Given the description of an element on the screen output the (x, y) to click on. 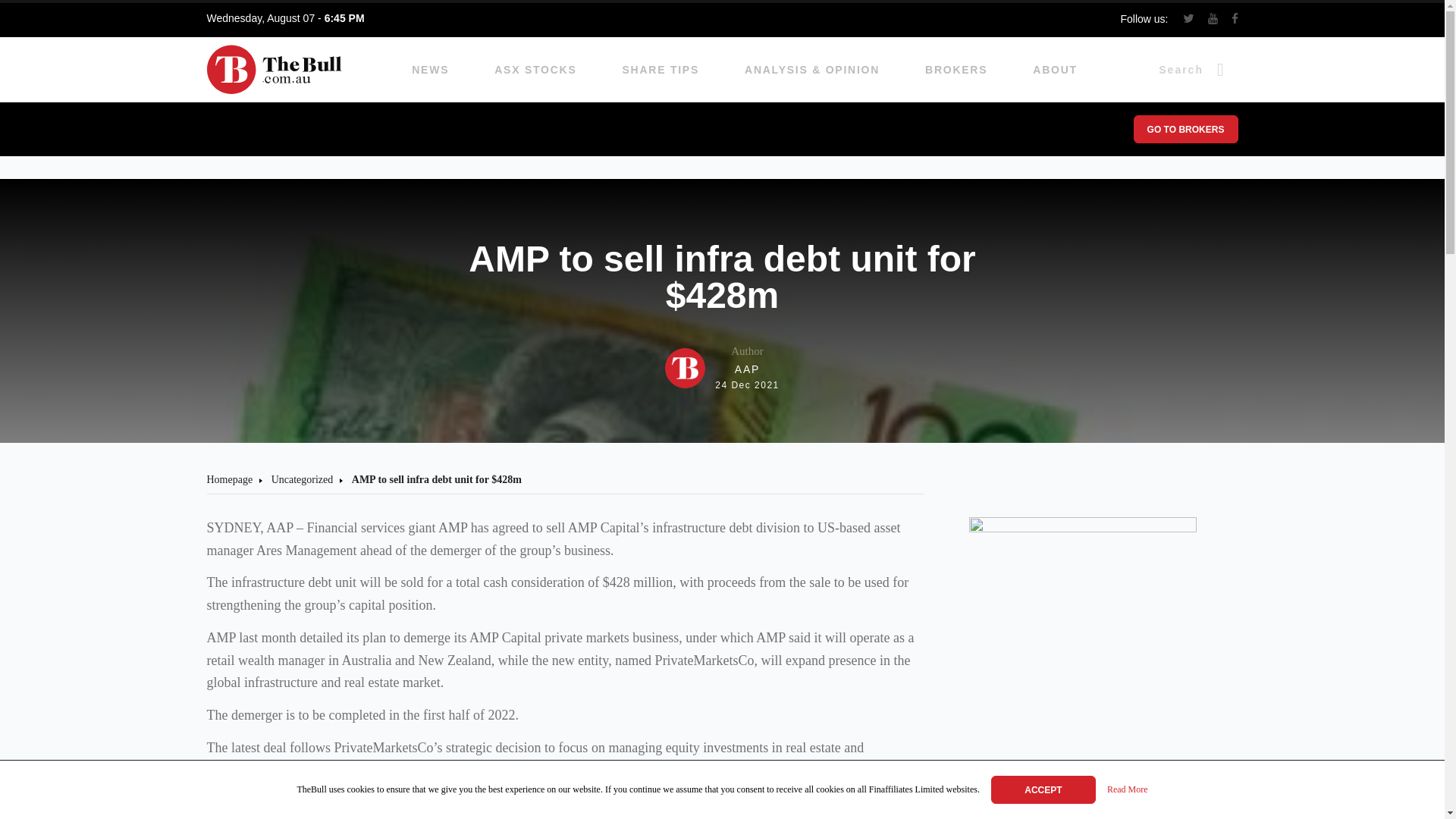
GO TO BROKERS (1184, 129)
Homepage (228, 479)
NEWS (430, 69)
ASX STOCKS (535, 69)
Uncategorized (721, 367)
BROKERS (301, 479)
SHARE TIPS (955, 69)
Read More (661, 69)
ACCEPT (1127, 789)
